Given the description of an element on the screen output the (x, y) to click on. 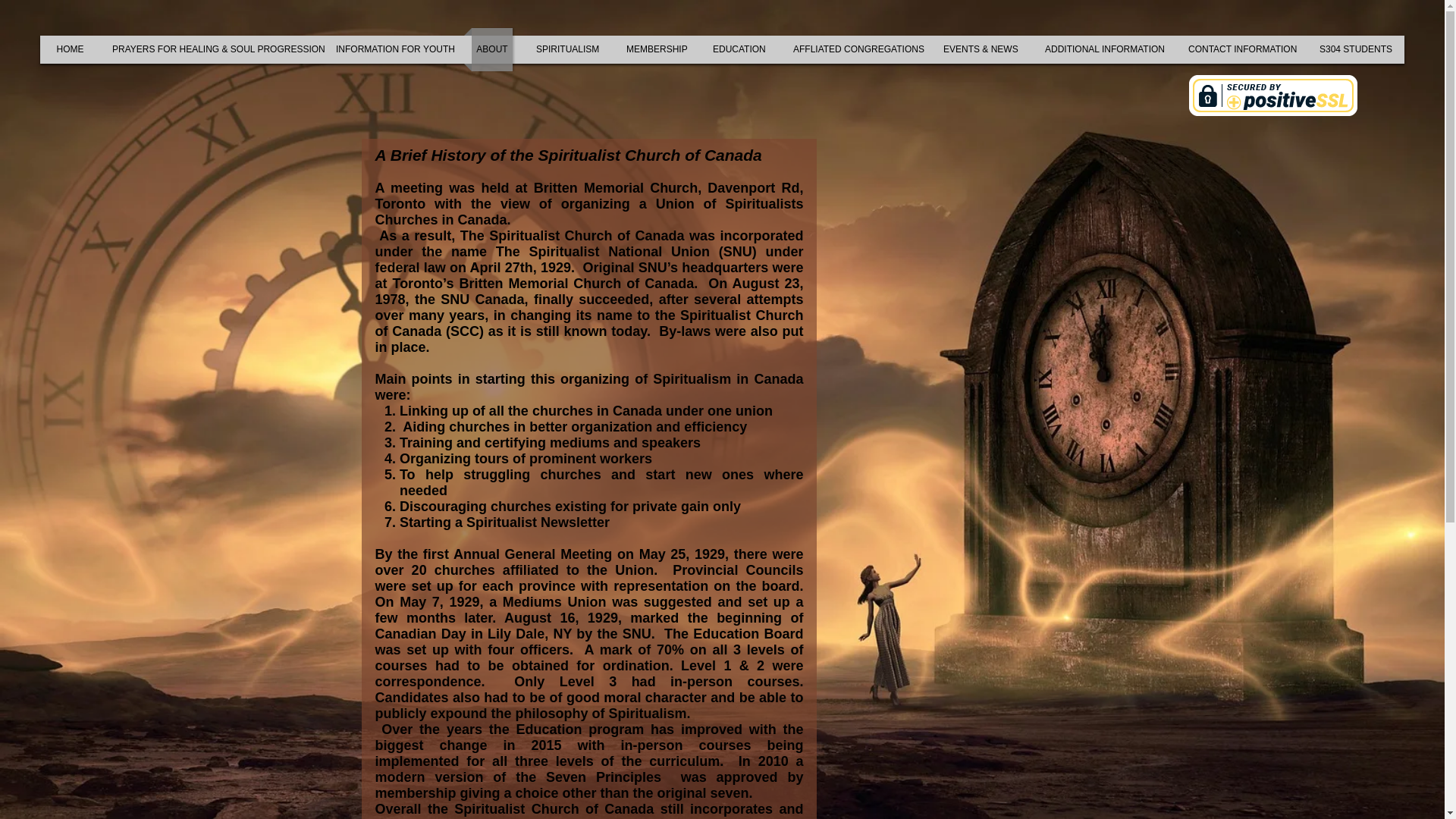
INFORMATION FOR YOUTH (391, 49)
AFFLIATED CONGREGATIONS (853, 49)
HOME (69, 49)
SPIRITUALISM (567, 49)
MEMBERSHIP (655, 49)
ABOUT (491, 49)
EDUCATION (738, 49)
